Given the description of an element on the screen output the (x, y) to click on. 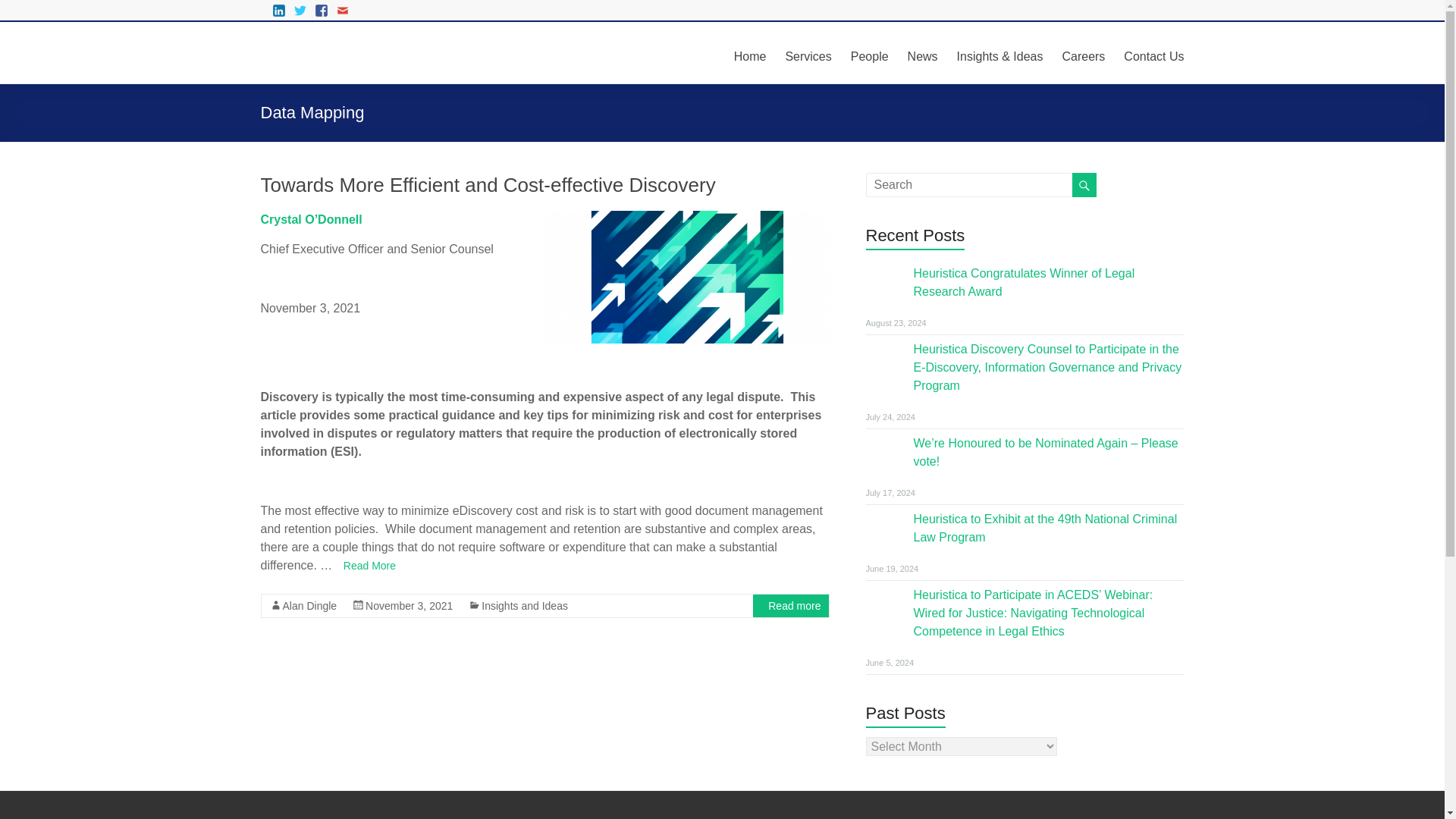
3:04 pm (408, 605)
Towards More Efficient and Cost-effective Discovery (686, 276)
Services (807, 54)
Home (750, 54)
Towards More Efficient and Cost-effective Discovery (686, 338)
Read More (366, 565)
Towards More Efficient and Cost-effective Discovery (488, 184)
November 3, 2021 (408, 605)
People (869, 54)
Towards More Efficient and Cost-effective Discovery (488, 184)
